Given the description of an element on the screen output the (x, y) to click on. 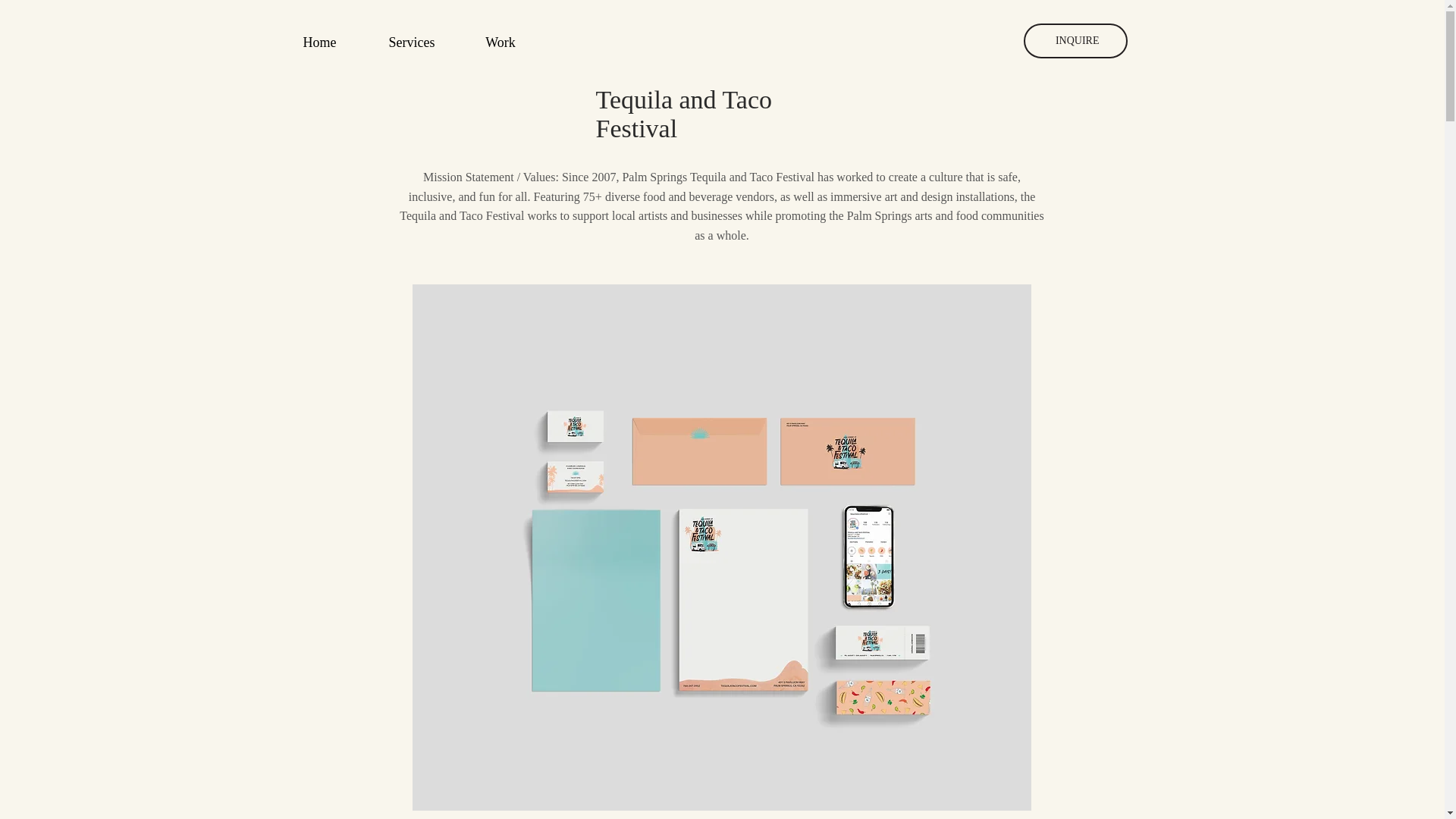
Services (411, 42)
Work (500, 42)
INQUIRE (1074, 40)
Home (319, 42)
